Given the description of an element on the screen output the (x, y) to click on. 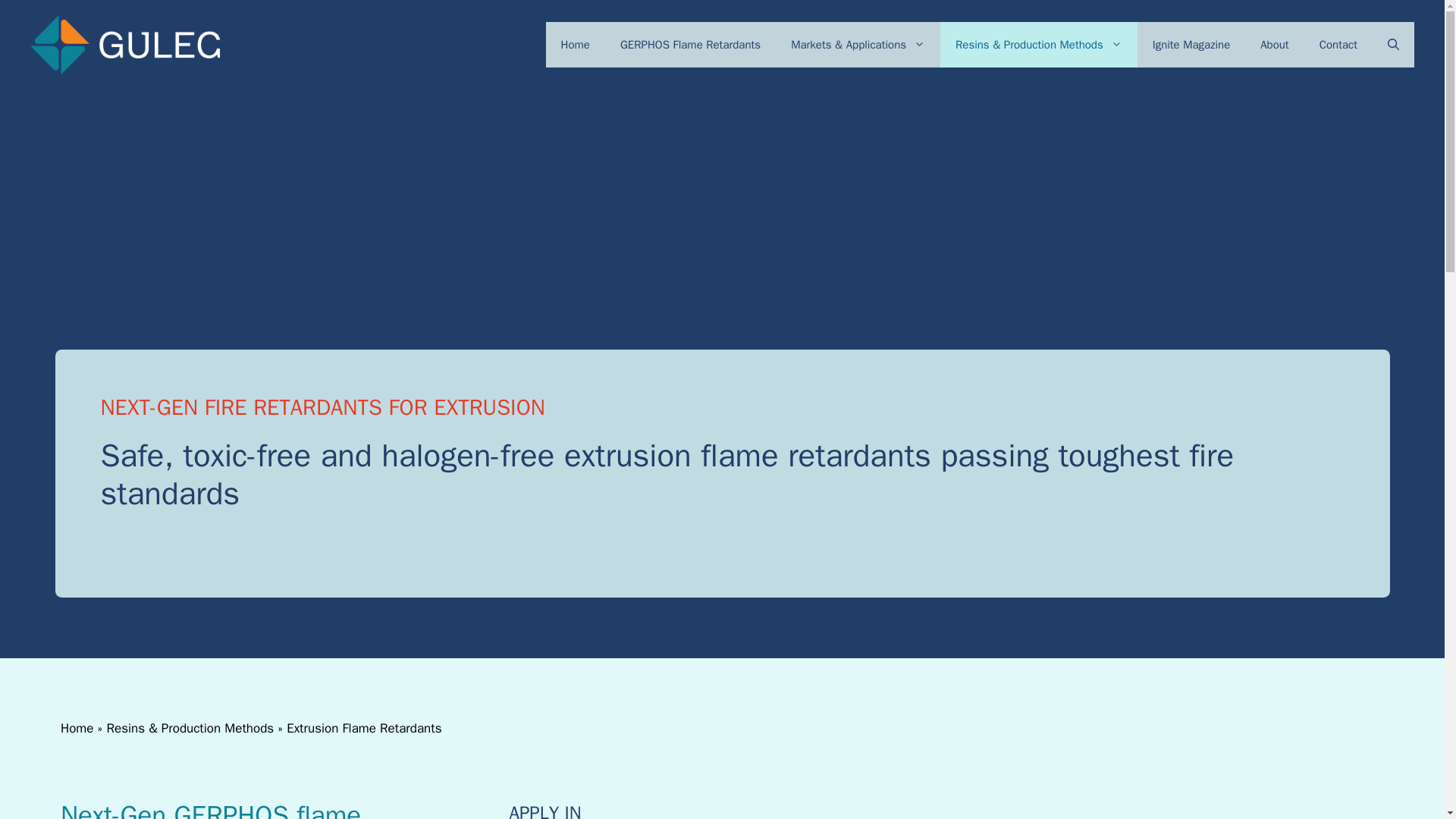
Gulec Chemicals (124, 43)
GERPHOS Flame Retardants (690, 44)
Ignite Magazine (1190, 44)
Gulec Chemicals (124, 44)
Contact (1338, 44)
Home (575, 44)
About (1273, 44)
